Given the description of an element on the screen output the (x, y) to click on. 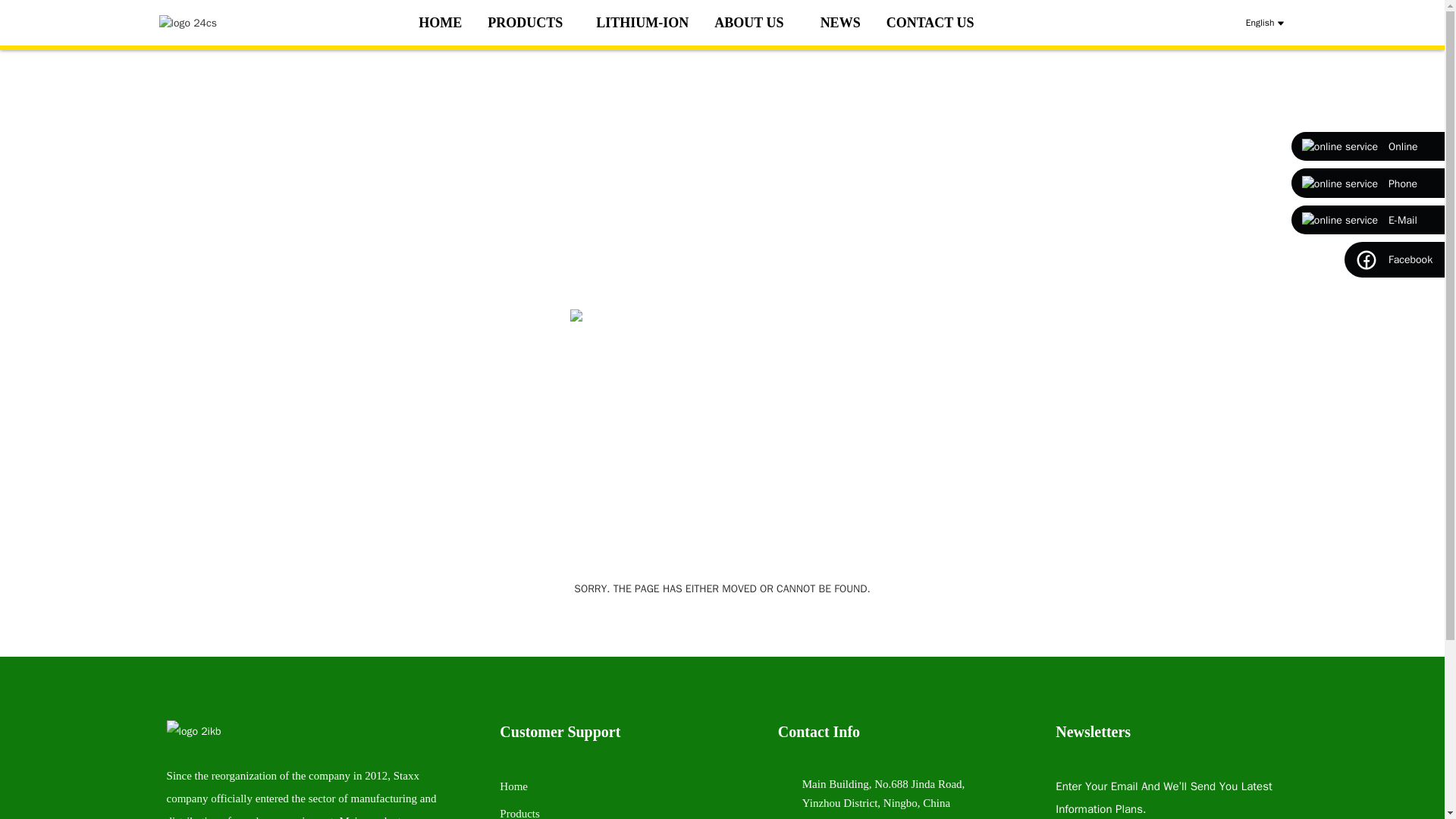
News (839, 22)
E-Mail (1368, 219)
Home (513, 786)
CONTACT US (930, 22)
Lithium-ion (641, 22)
ABOUT US (753, 22)
PRODUCTS (529, 22)
Home (439, 22)
Contact Us (930, 22)
HOME (439, 22)
NEWS (839, 22)
Products (519, 813)
Phone (1368, 182)
products (529, 22)
Online (1368, 146)
